Given the description of an element on the screen output the (x, y) to click on. 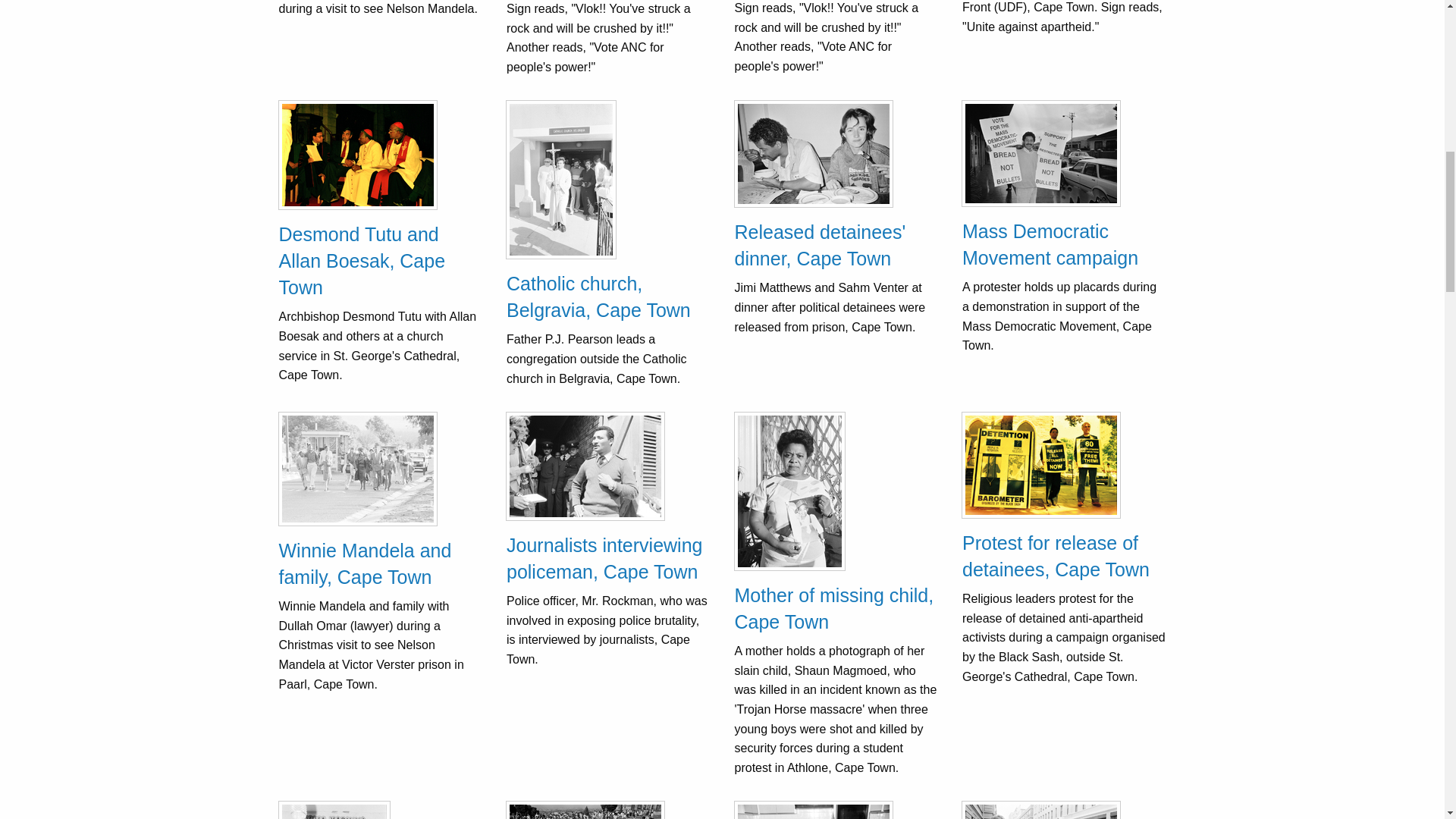
Desmond Tutu and Allan Boesak, Cape Town (362, 260)
Catholic church, Belgravia, Cape Town (598, 296)
Winnie Mandela and family, Cape Town (365, 563)
Mass Democratic Movement campaign (1050, 244)
Released detainees' dinner, Cape Town (819, 245)
